Given the description of an element on the screen output the (x, y) to click on. 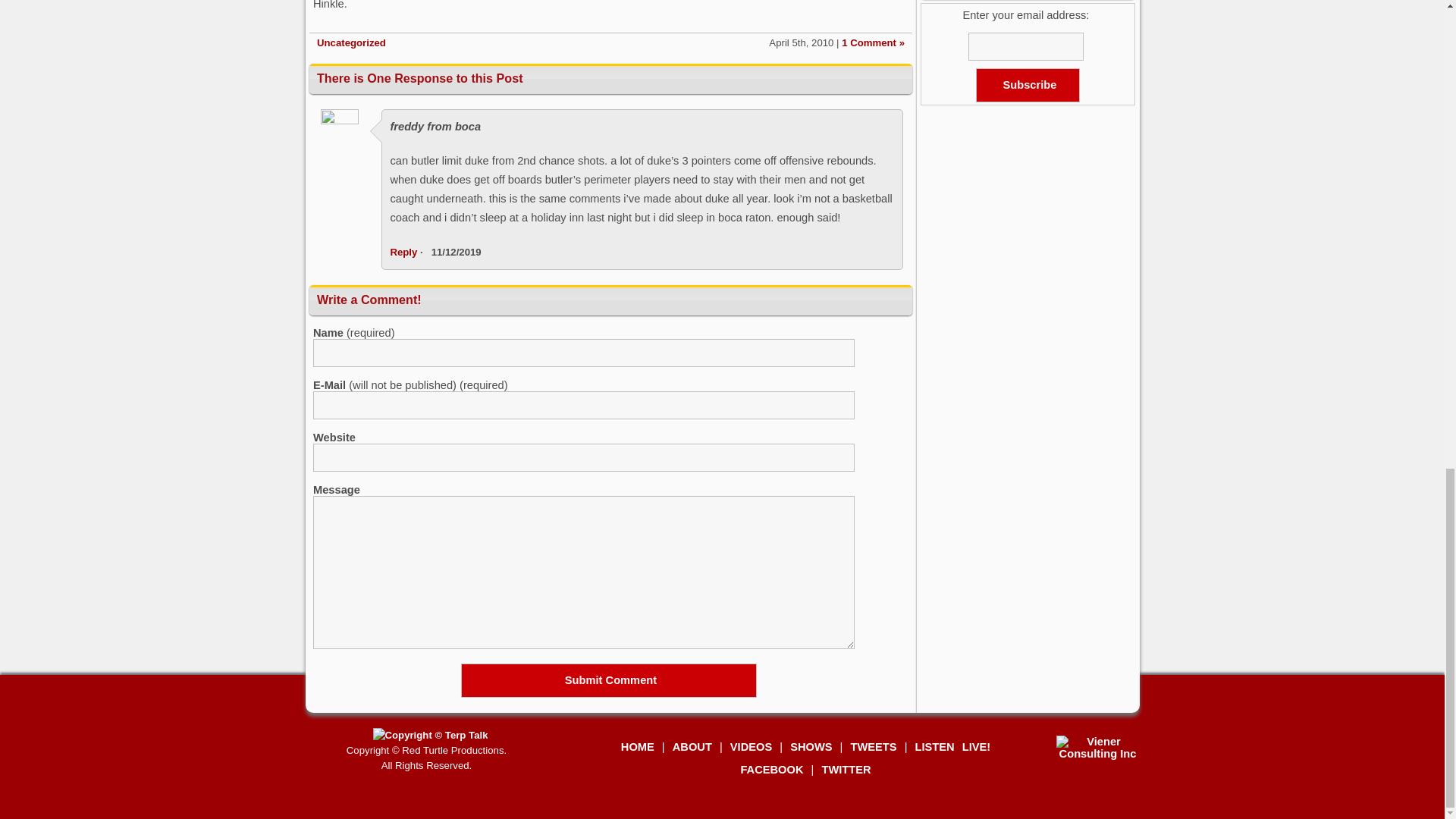
Submit Comment (609, 680)
Uncategorized (351, 42)
Reply (403, 251)
Tweets (873, 746)
About (691, 746)
Subscribe (1027, 84)
Facebook (771, 769)
Shows (810, 746)
Videos (750, 746)
Listen Live! (953, 746)
